Given the description of an element on the screen output the (x, y) to click on. 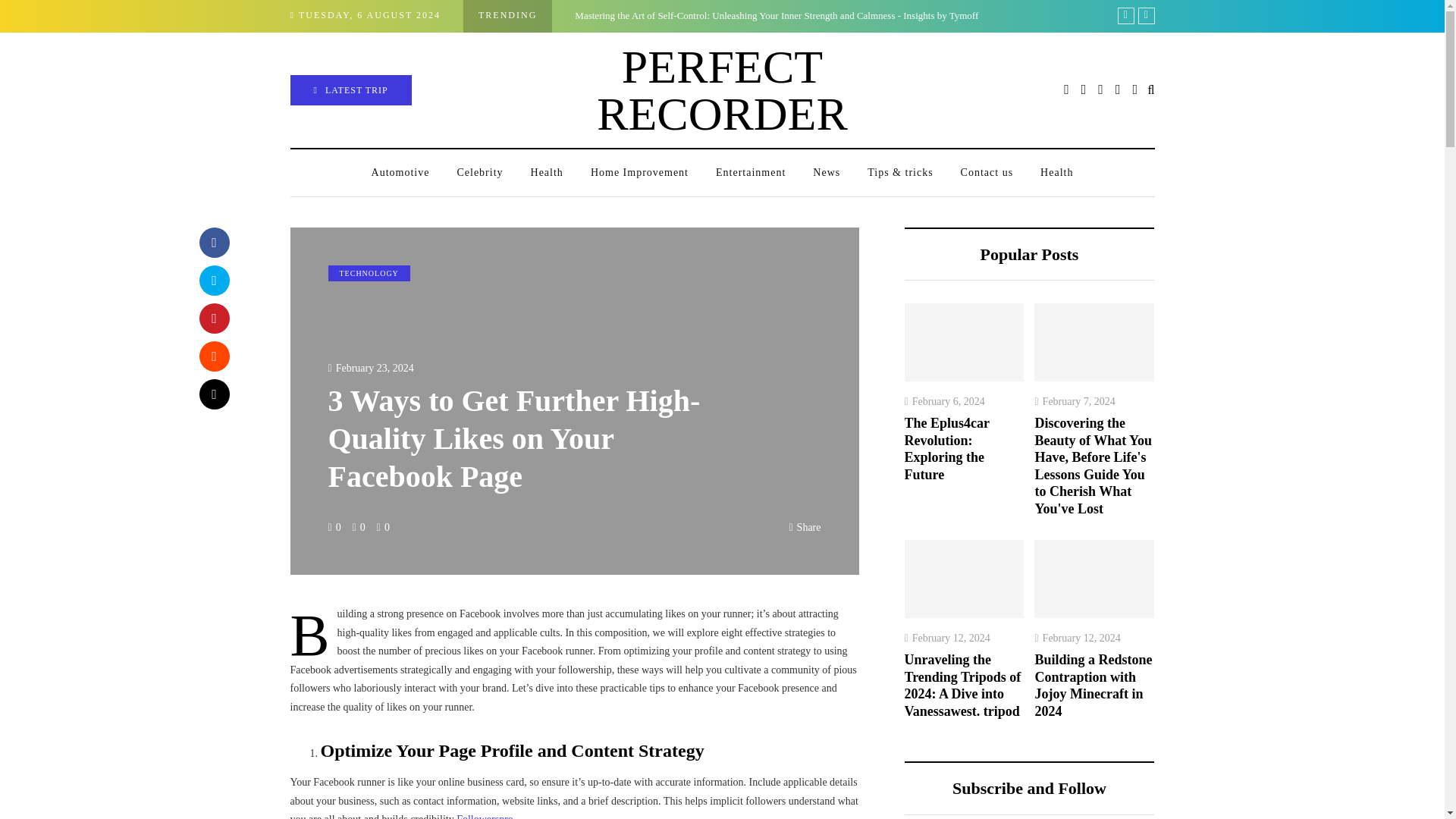
Tweet this (213, 280)
Celebrity (479, 172)
Health (546, 172)
Share on Reddit (213, 356)
The Eplus4car Revolution:  Exploring the Future (1225, 15)
TECHNOLOGY (368, 273)
Share by Email (213, 394)
Followerspro (485, 816)
PERFECT RECORDER (721, 89)
Pin this (213, 318)
Home Improvement (638, 172)
Health (1056, 172)
News (826, 172)
Share with Facebook (213, 242)
Automotive (401, 172)
